Given the description of an element on the screen output the (x, y) to click on. 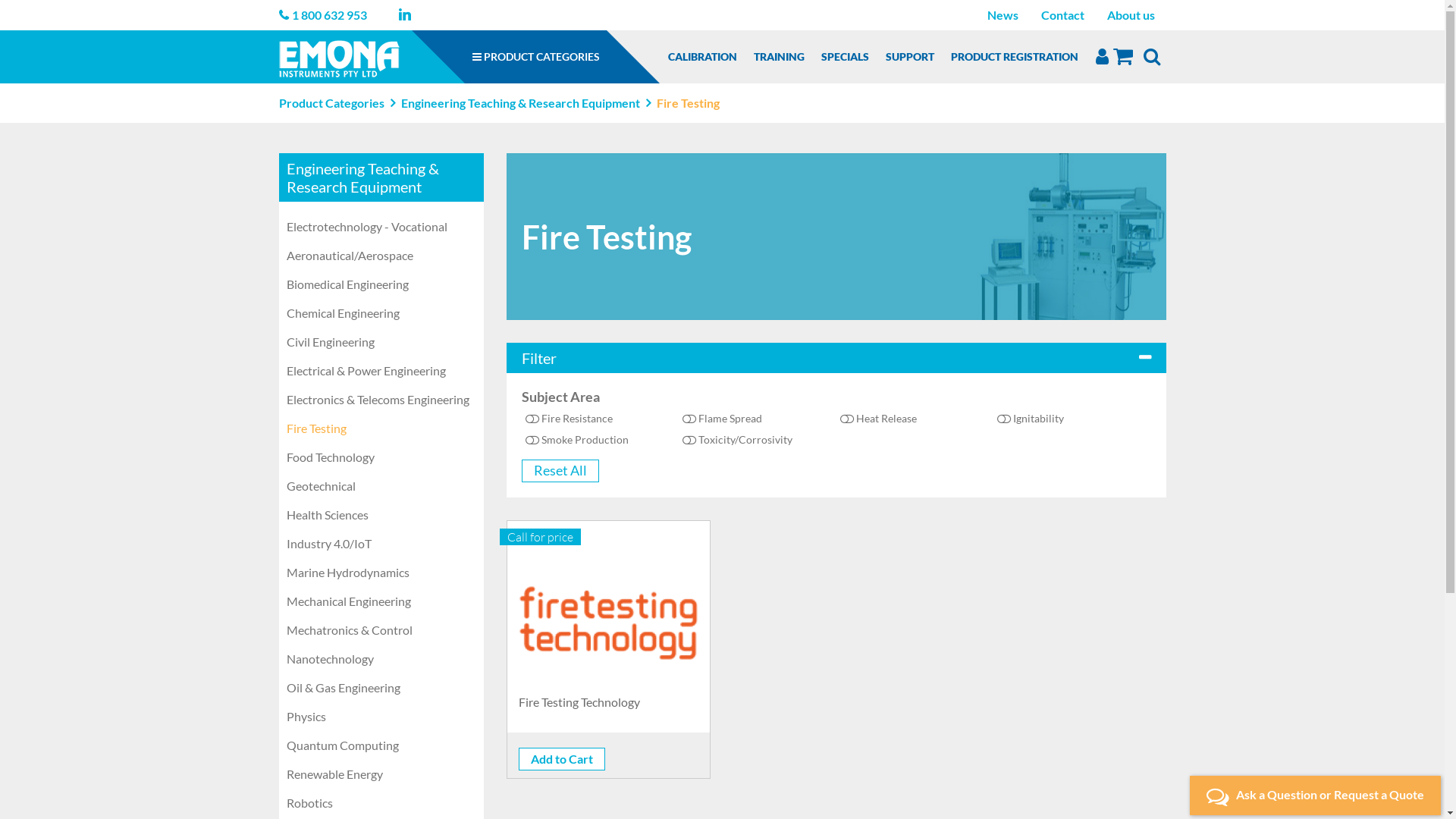
Chemical Engineering Element type: text (381, 312)
Fire Testing Technology Element type: text (608, 709)
Fire Testing Element type: text (381, 428)
PRODUCT REGISTRATION Element type: text (1014, 56)
CALIBRATION Element type: text (702, 56)
SPECIALS Element type: text (844, 56)
Smoke Production Element type: text (576, 439)
Industry 4.0/IoT Element type: text (381, 543)
Add to Cart Element type: text (561, 758)
Civil Engineering Element type: text (381, 341)
Engineering Teaching & Research Equipment Element type: text (519, 102)
Fire Testing Technology Element type: hover (608, 622)
TRAINING Element type: text (779, 56)
Quantum Computing Element type: text (381, 745)
Oil & Gas Engineering Element type: text (381, 687)
Reset All Element type: text (560, 470)
Heat Release Element type: text (877, 418)
Food Technology Element type: text (381, 456)
Electronics & Telecoms Engineering Element type: text (381, 399)
Marine Hydrodynamics Element type: text (381, 572)
Aeronautical/Aerospace Element type: text (381, 255)
Mechatronics & Control Element type: text (381, 629)
Robotics Element type: text (381, 802)
Filter Element type: text (836, 357)
  Ask a Question or Request a Quote Element type: text (1314, 795)
Product Categories Element type: text (331, 102)
About us Element type: text (1130, 15)
Electrotechnology - Vocational Element type: text (381, 226)
Add to Cart Element type: hover (561, 758)
Ignitability Element type: text (1030, 418)
Biomedical Engineering Element type: text (381, 284)
Show Cart Element type: hover (1122, 55)
Physics Element type: text (381, 716)
Contact Element type: text (1062, 15)
Fire Resistance Element type: text (568, 418)
Geotechnical Element type: text (381, 485)
News Element type: text (1002, 15)
SUPPORT Element type: text (909, 56)
Mechanical Engineering Element type: text (381, 601)
Nanotechnology Element type: text (381, 658)
Toxicity/Corrosivity Element type: text (737, 439)
1 800 632 953 Element type: text (328, 14)
Renewable Energy Element type: text (381, 773)
Electrical & Power Engineering Element type: text (381, 370)
Flame Spread Element type: text (721, 418)
Health Sciences Element type: text (381, 514)
